Given the description of an element on the screen output the (x, y) to click on. 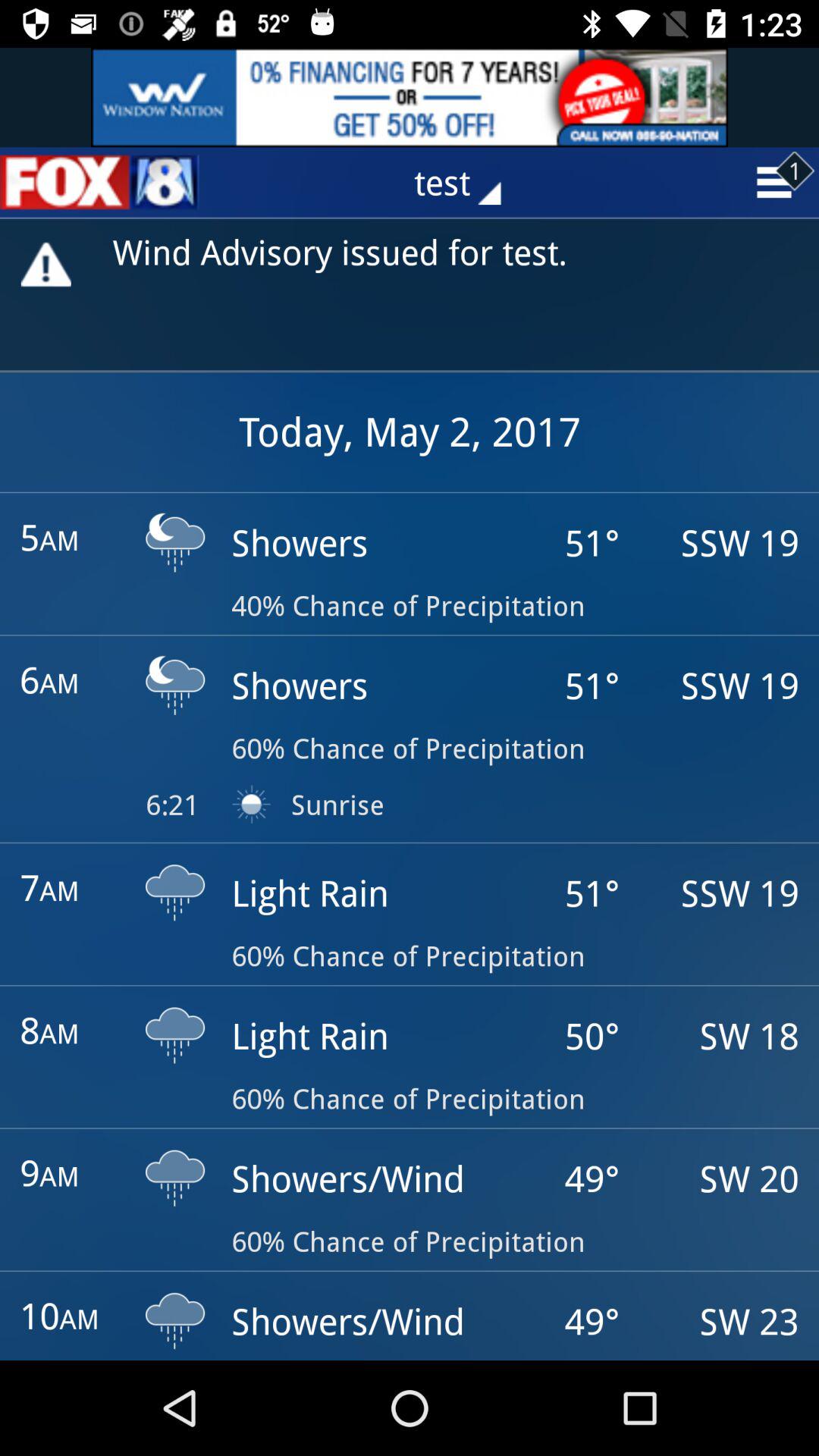
choose the icon to the left of the test item (99, 182)
